Given the description of an element on the screen output the (x, y) to click on. 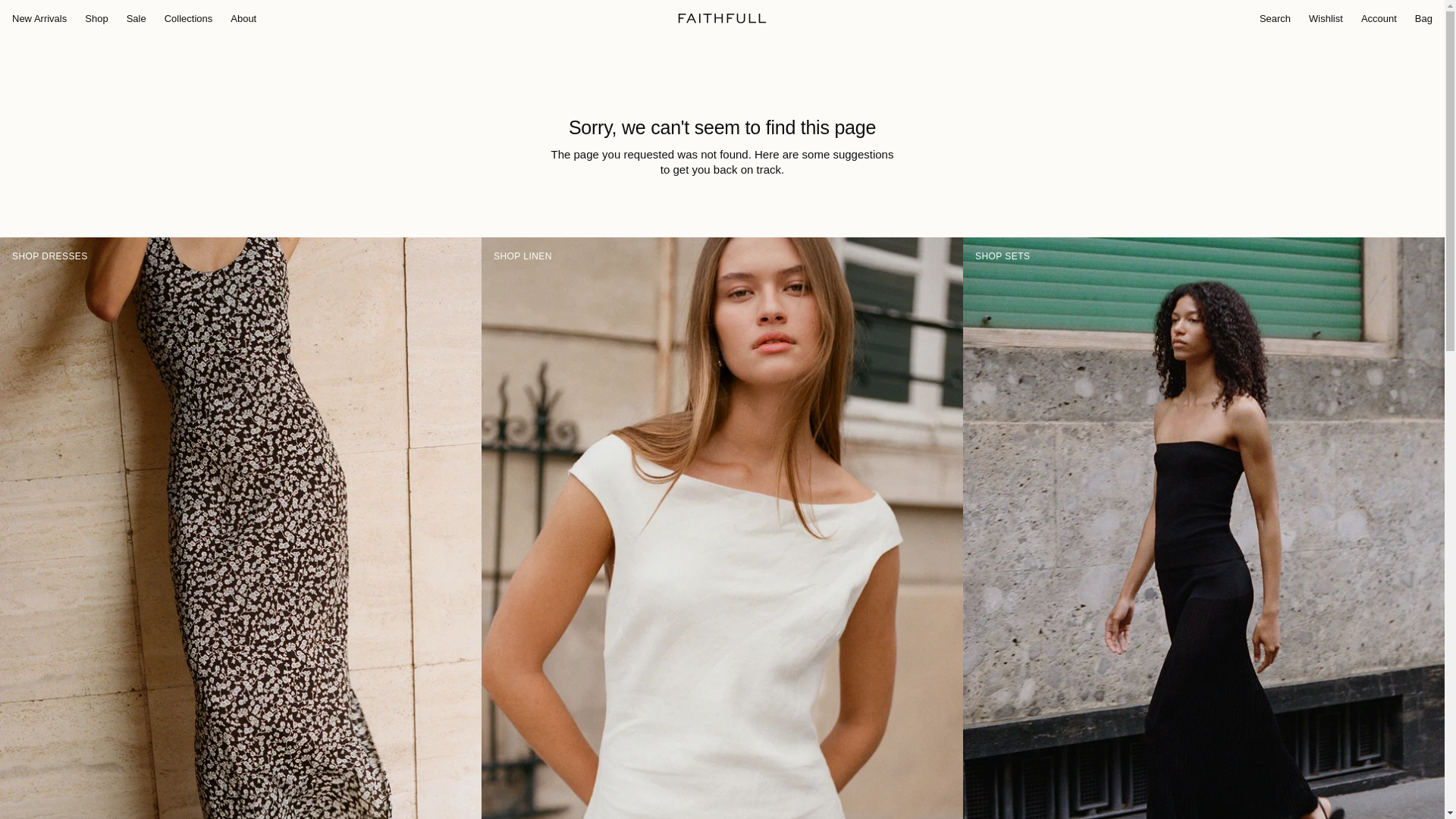
Shop (95, 19)
New Arrivals (38, 19)
